Given the description of an element on the screen output the (x, y) to click on. 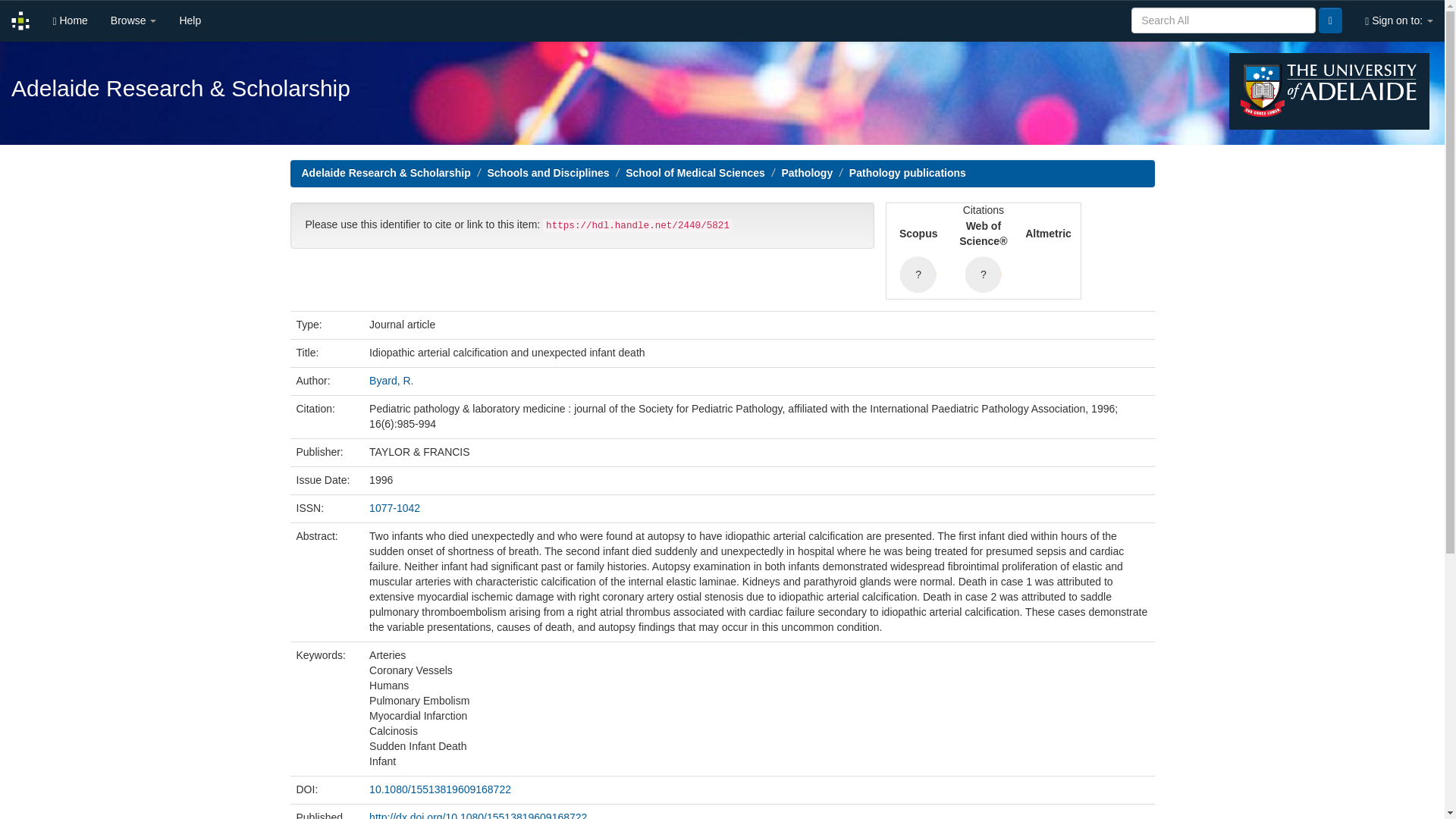
Browse (133, 20)
Byard, R. (391, 380)
1077-1042 (394, 508)
Help (189, 20)
Home (69, 20)
Pathology publications (907, 173)
Pathology (806, 173)
Schools and Disciplines (547, 173)
Sign on to: (1399, 20)
School of Medical Sciences (695, 173)
